Given the description of an element on the screen output the (x, y) to click on. 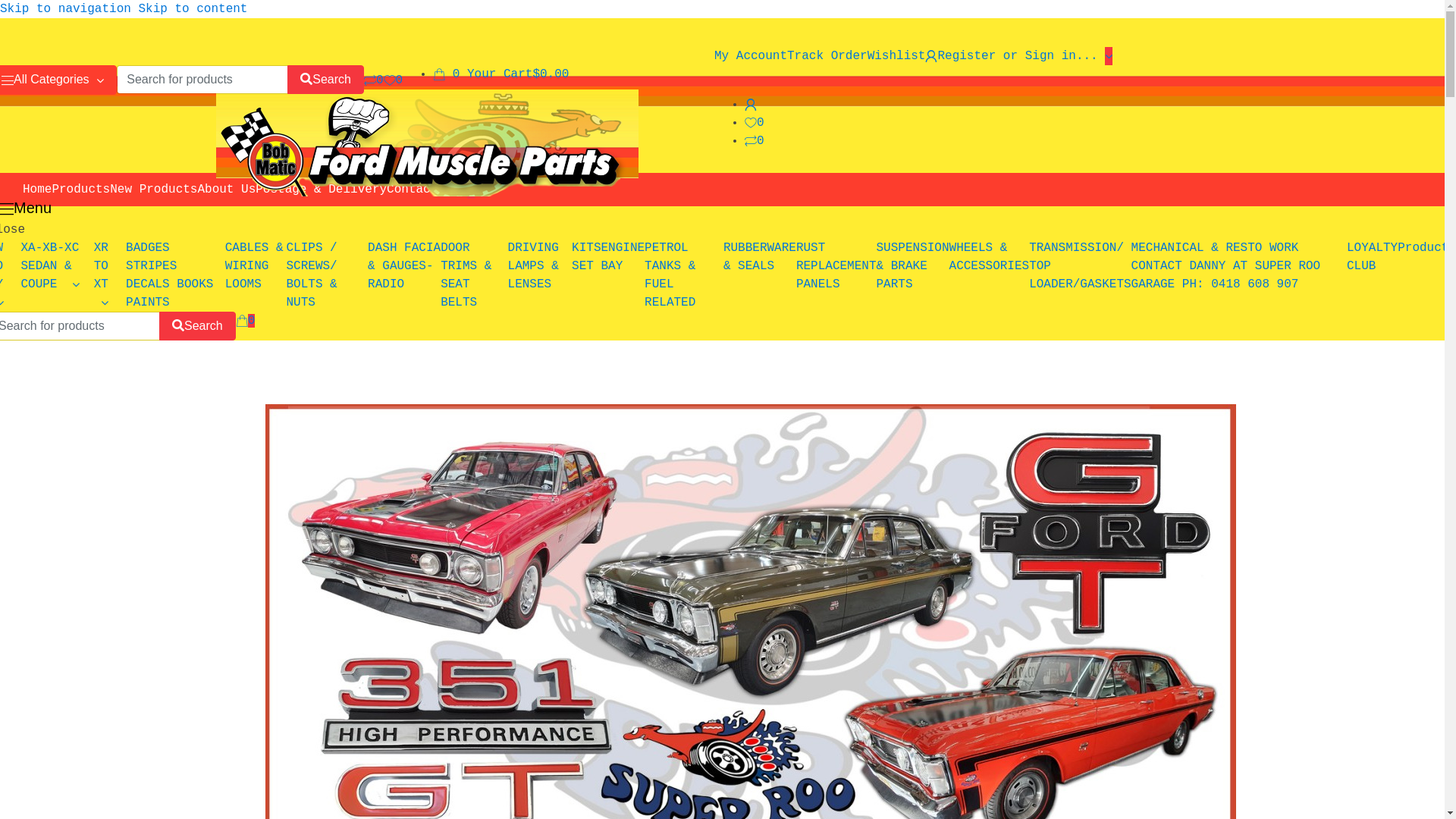
KITS SET Element type: text (585, 257)
DOOR TRIMS & SEAT BELTS Element type: text (465, 275)
... Element type: text (1094, 55)
DRIVING LAMPS & LENSES Element type: text (533, 266)
0 Element type: text (373, 80)
0 Element type: text (393, 80)
0 Element type: text (245, 325)
Register or Sign in Element type: text (1000, 55)
RUST REPLACEMENT PANELS Element type: text (836, 266)
ENGINE BAY Element type: text (622, 257)
DASH FACIA & GAUGES-RADIO Element type: text (403, 266)
Postage & Delivery Element type: text (320, 189)
BADGES STRIPES DECALS BOOKS PAINTS Element type: text (169, 275)
Wishlist Element type: text (896, 55)
Search Element type: text (197, 325)
My Account Element type: text (750, 55)
0 Element type: text (754, 140)
LOYALTY CLUB Element type: text (1371, 257)
XR TO XT Element type: text (101, 275)
Contact Element type: text (411, 189)
0 Your Cart$0.00 Element type: text (500, 74)
Skip to navigation Element type: text (65, 8)
Products Element type: text (80, 189)
CLIPS / SCREWS/ BOLTS & NUTS Element type: text (310, 275)
Skip to content Element type: text (192, 8)
... Element type: text (455, 189)
Search Element type: text (325, 79)
WHEELS & ACCESSORIES Element type: text (989, 257)
XA-XB-XC SEDAN & COUPE Element type: text (49, 266)
RUBBERWARE & SEALS Element type: text (759, 257)
About Us Element type: text (226, 189)
CABLES & WIRING LOOMS Element type: text (254, 266)
Home Element type: text (36, 189)
New Products Element type: text (153, 189)
TRANSMISSION/ TOP LOADER/GASKETS Element type: text (1079, 266)
0 Element type: text (754, 122)
PETROL TANKS & FUEL RELATED Element type: text (669, 275)
Track Order Element type: text (827, 55)
SUSPENSION & BRAKE PARTS Element type: text (912, 266)
